Given the description of an element on the screen output the (x, y) to click on. 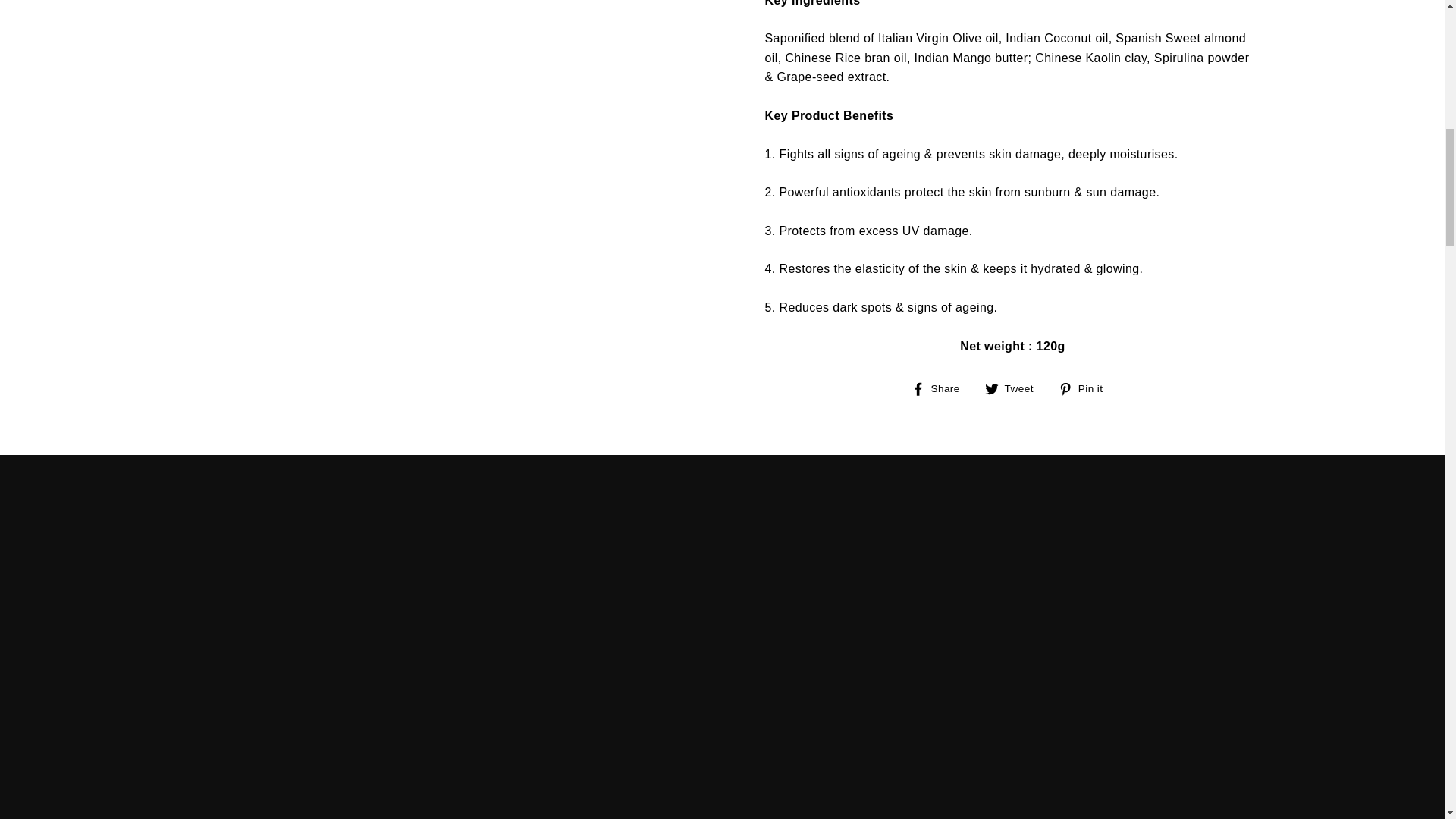
Share on Facebook (941, 388)
Tweet on Twitter (1015, 388)
Pin on Pinterest (1085, 388)
